Given the description of an element on the screen output the (x, y) to click on. 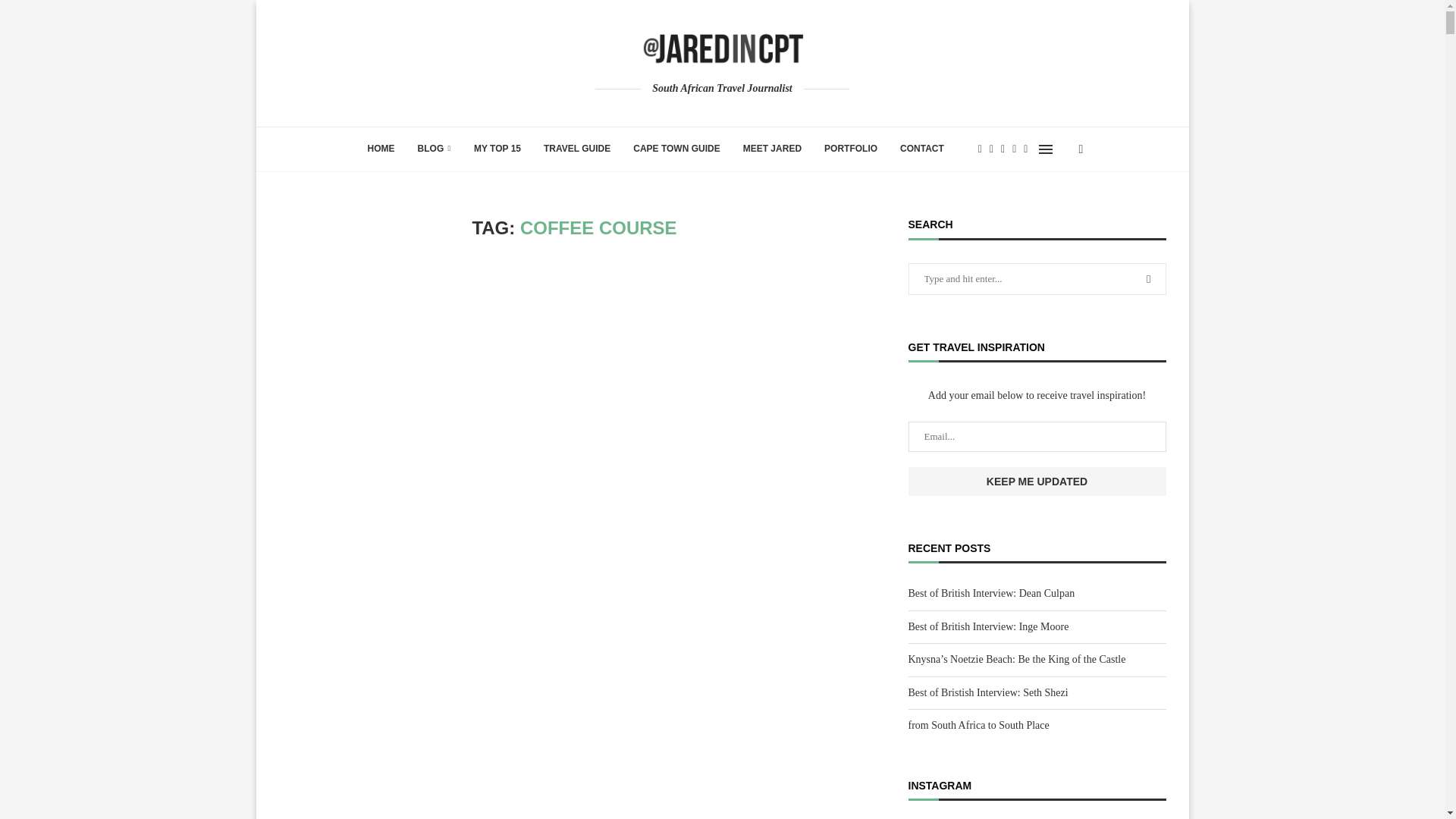
MY TOP 15 (497, 148)
Best of British Interview: Inge Moore (988, 626)
keep me updated (1037, 481)
keep me updated (1037, 481)
TRAVEL GUIDE (576, 148)
CONTACT (921, 148)
MEET JARED (772, 148)
CAPE TOWN GUIDE (675, 148)
BLOG (434, 148)
Search (128, 15)
HOME (381, 148)
PORTFOLIO (850, 148)
Best of British Interview: Dean Culpan (991, 593)
